Given the description of an element on the screen output the (x, y) to click on. 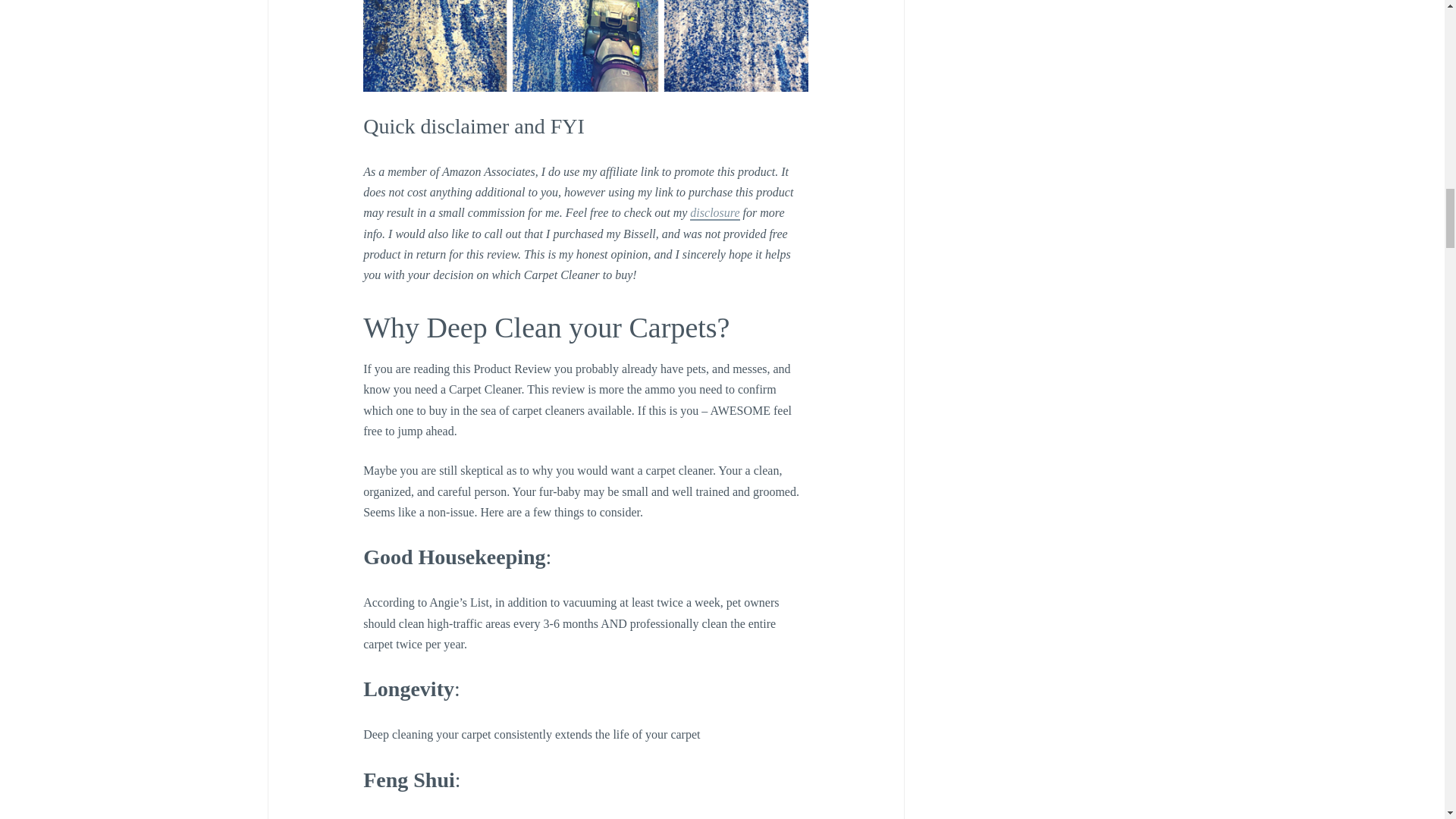
disclosure (714, 213)
